Given the description of an element on the screen output the (x, y) to click on. 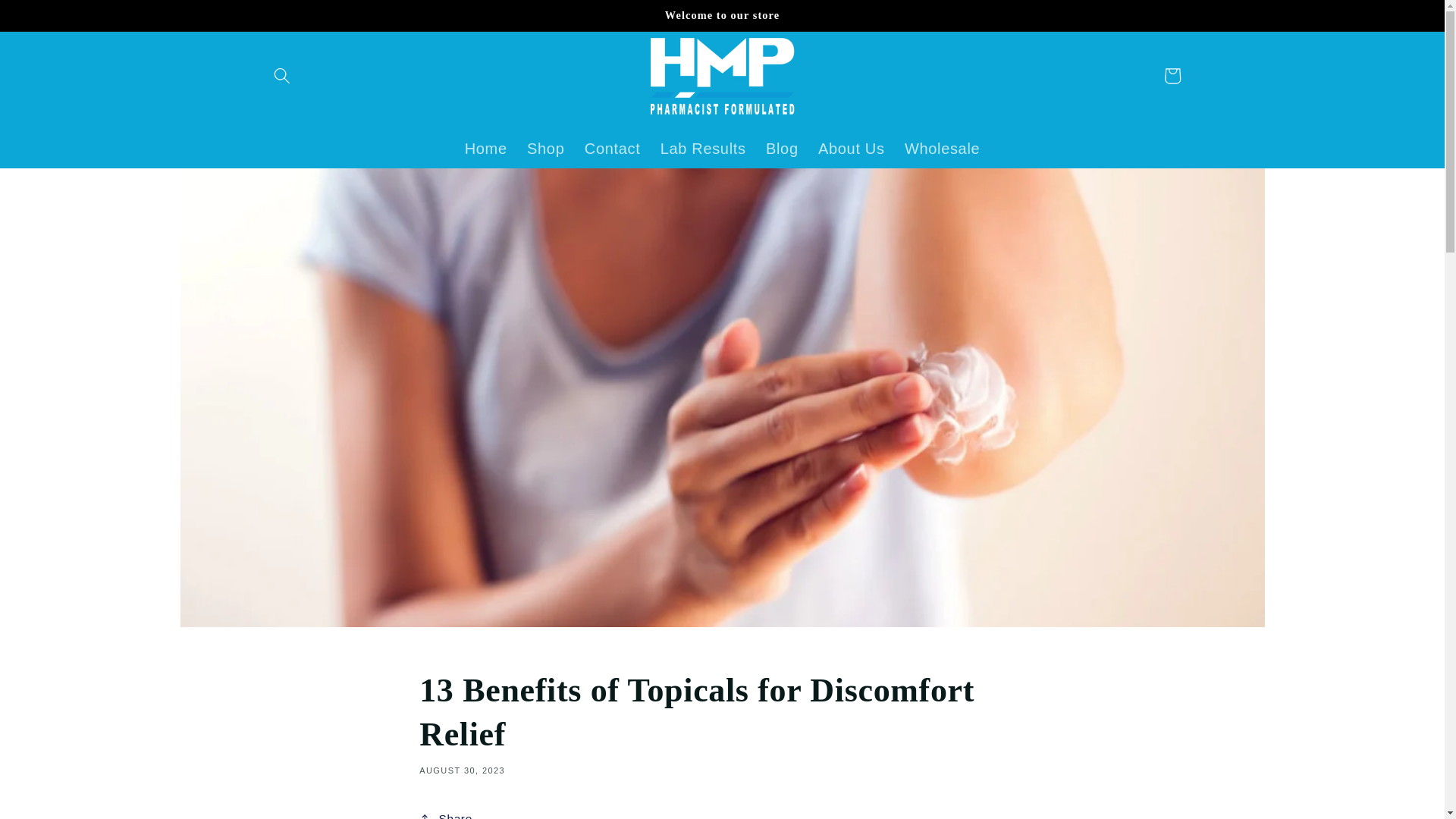
About Us (851, 148)
Shop (545, 148)
Home (485, 148)
Blog (781, 148)
Skip to content (50, 19)
Cart (1172, 75)
Lab Results (702, 148)
Contact (612, 148)
Wholesale (942, 148)
